Given the description of an element on the screen output the (x, y) to click on. 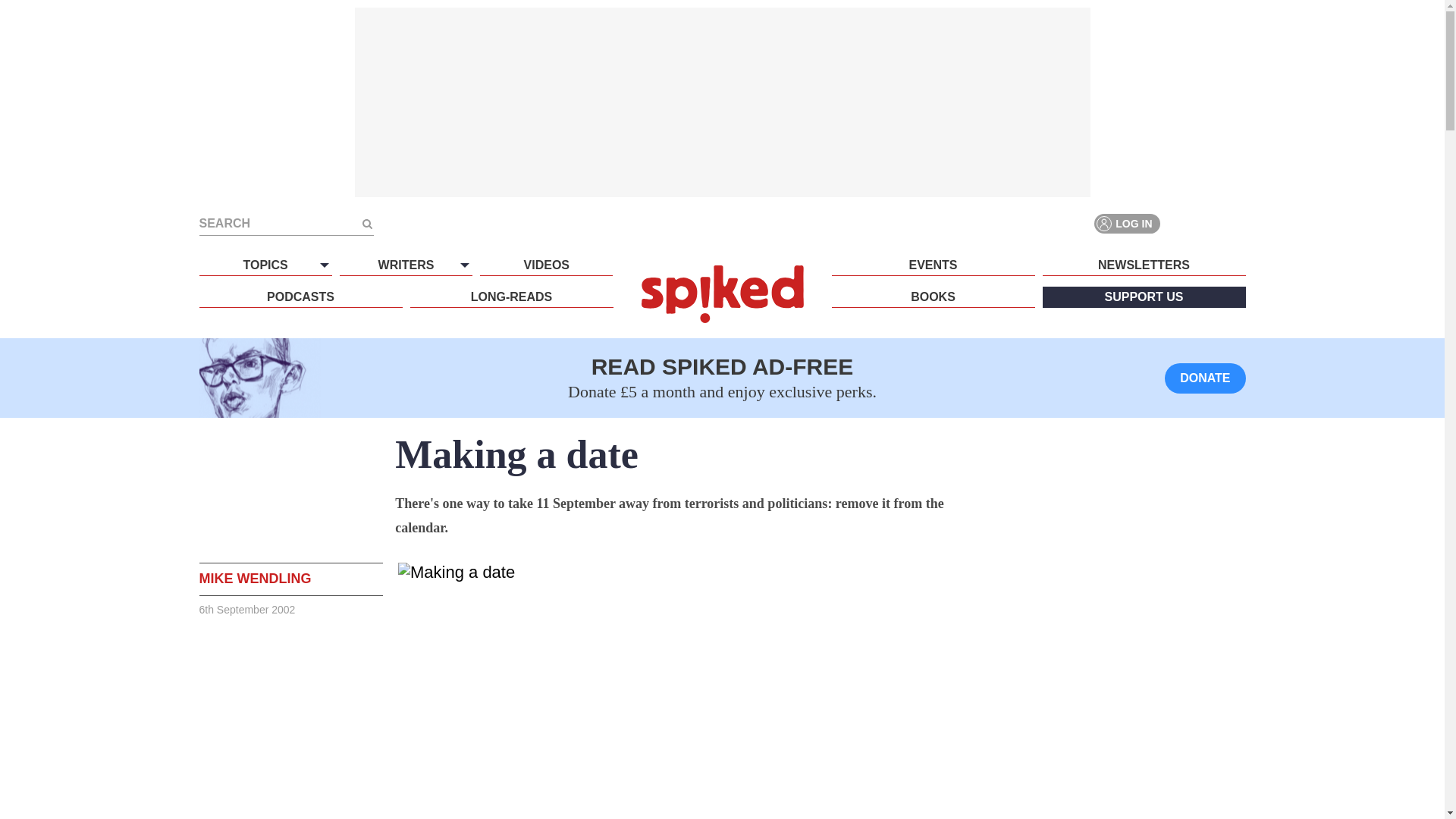
VIDEOS (546, 265)
spiked - humanity is underrated (722, 293)
Facebook (1180, 223)
PODCASTS (299, 296)
LONG-READS (510, 296)
WRITERS (405, 265)
SUPPORT US (1143, 296)
LOG IN (1126, 223)
TOPICS (264, 265)
BOOKS (932, 296)
YouTube (1234, 223)
NEWSLETTERS (1143, 265)
Twitter (1207, 223)
EVENTS (932, 265)
